Given the description of an element on the screen output the (x, y) to click on. 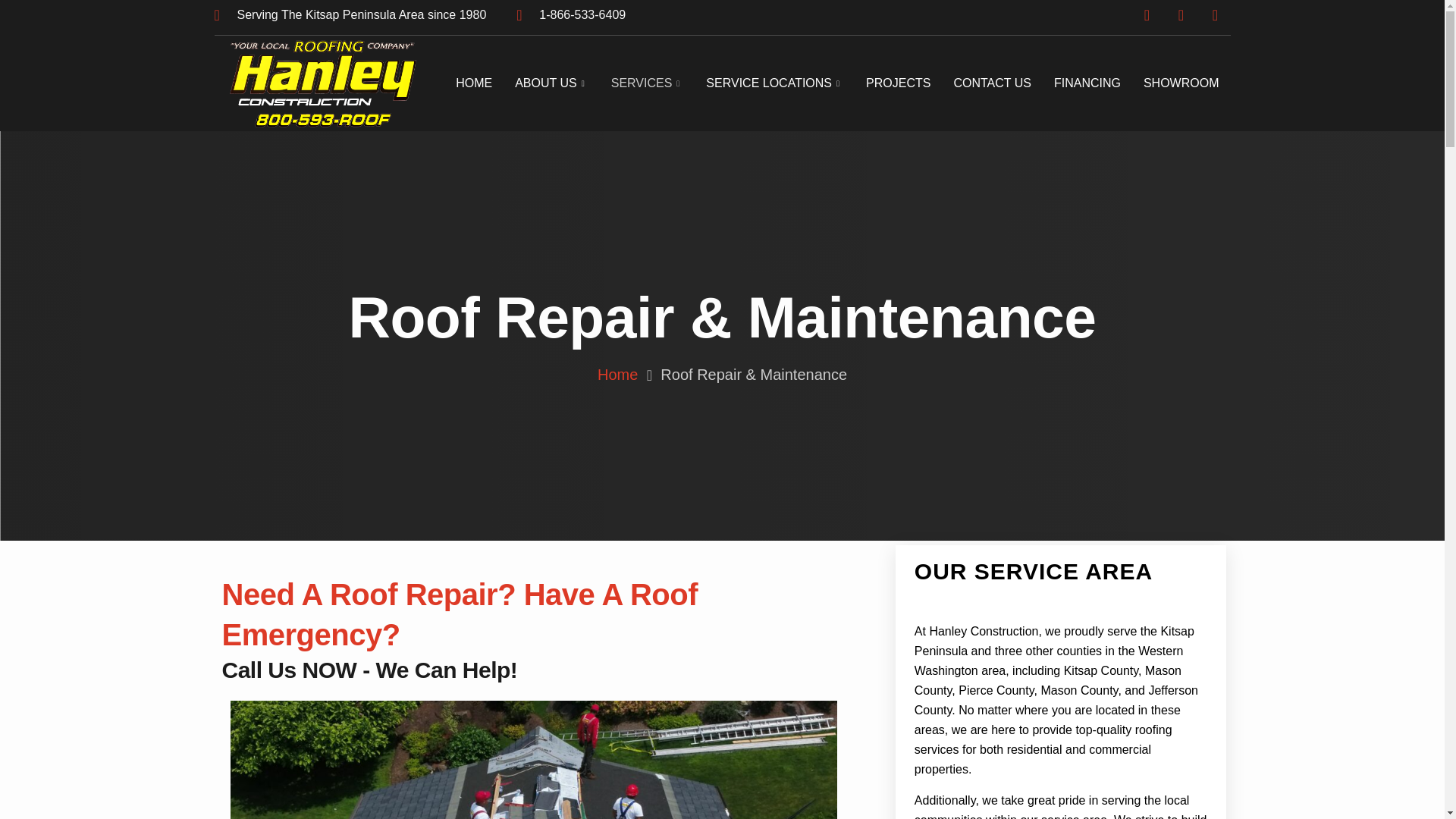
HOME (473, 84)
1-866-533-6409 (571, 14)
SERVICES (647, 84)
SHOWROOM (1181, 84)
SERVICE LOCATIONS (774, 84)
CONTACT US (992, 84)
FINANCING (1087, 84)
ABOUT US (551, 84)
Home (616, 374)
PROJECTS (898, 84)
